Given the description of an element on the screen output the (x, y) to click on. 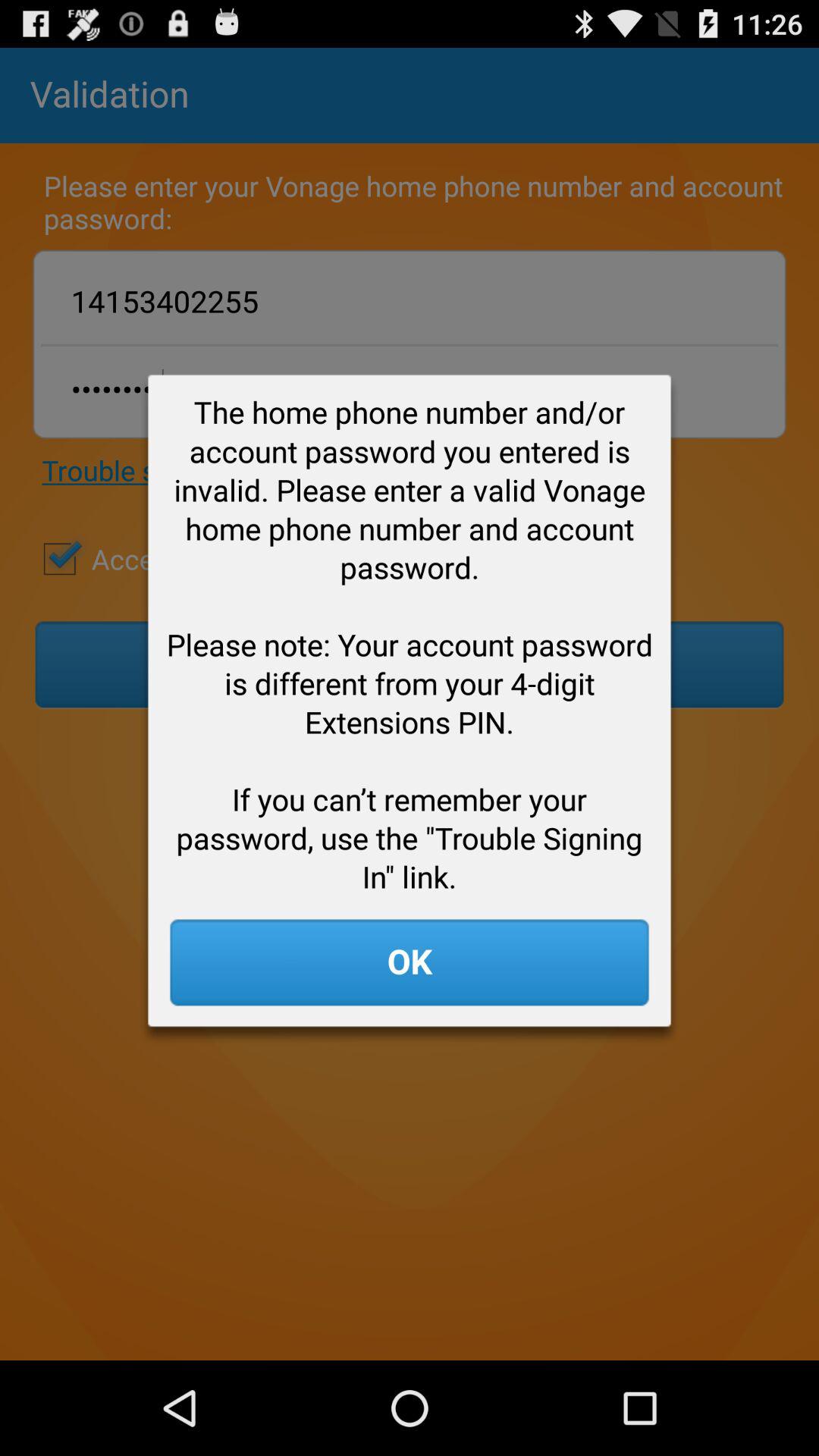
choose the ok (409, 962)
